Given the description of an element on the screen output the (x, y) to click on. 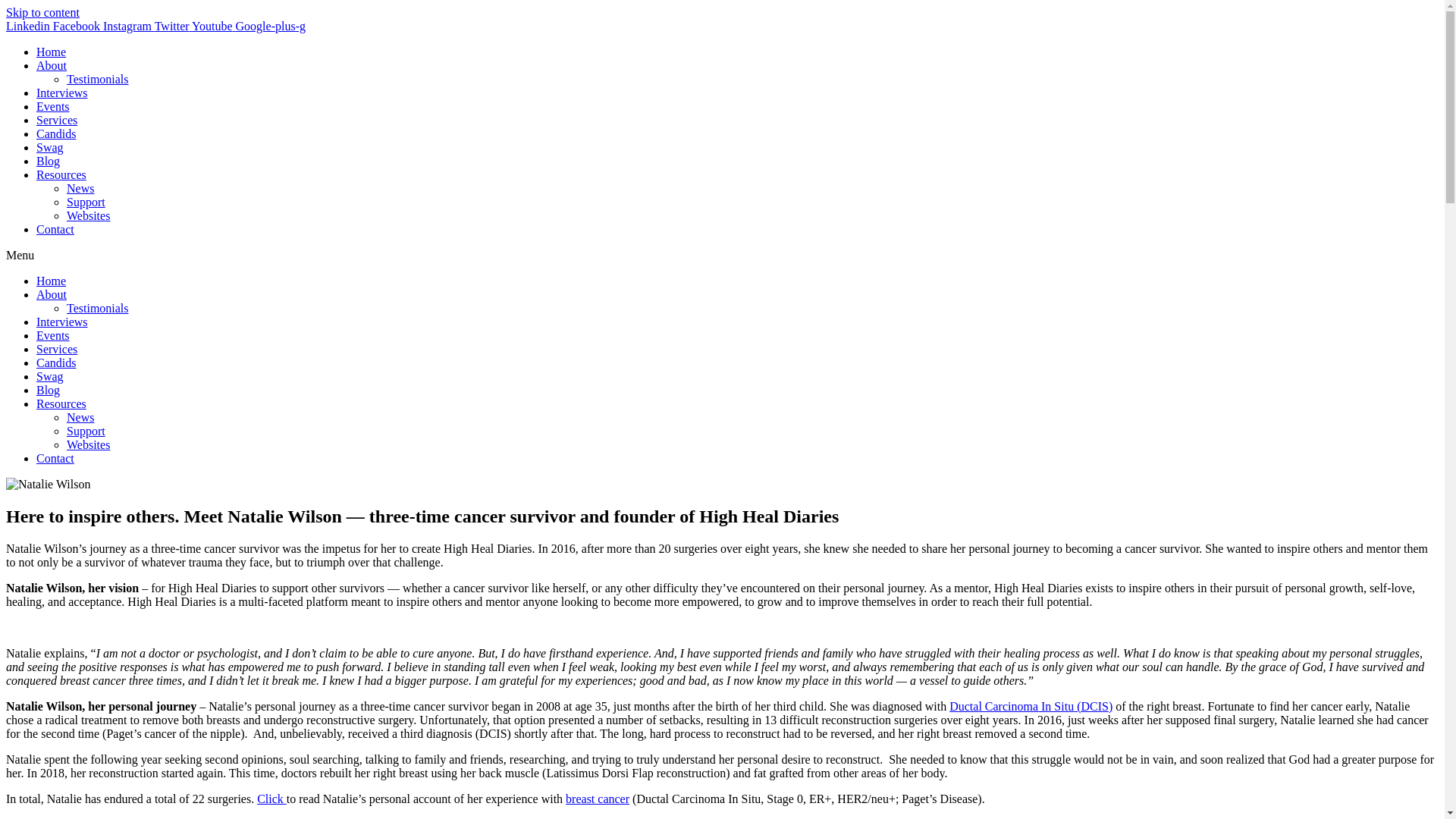
Candids (55, 133)
Home (50, 280)
Events (52, 335)
Google-plus-g (270, 25)
Support (85, 201)
Twitter (173, 25)
Support (85, 431)
Swag (50, 146)
News (80, 417)
Resources (60, 403)
breast cancer (597, 798)
About (51, 65)
Testimonials (97, 78)
About (51, 294)
Contact (55, 228)
